Given the description of an element on the screen output the (x, y) to click on. 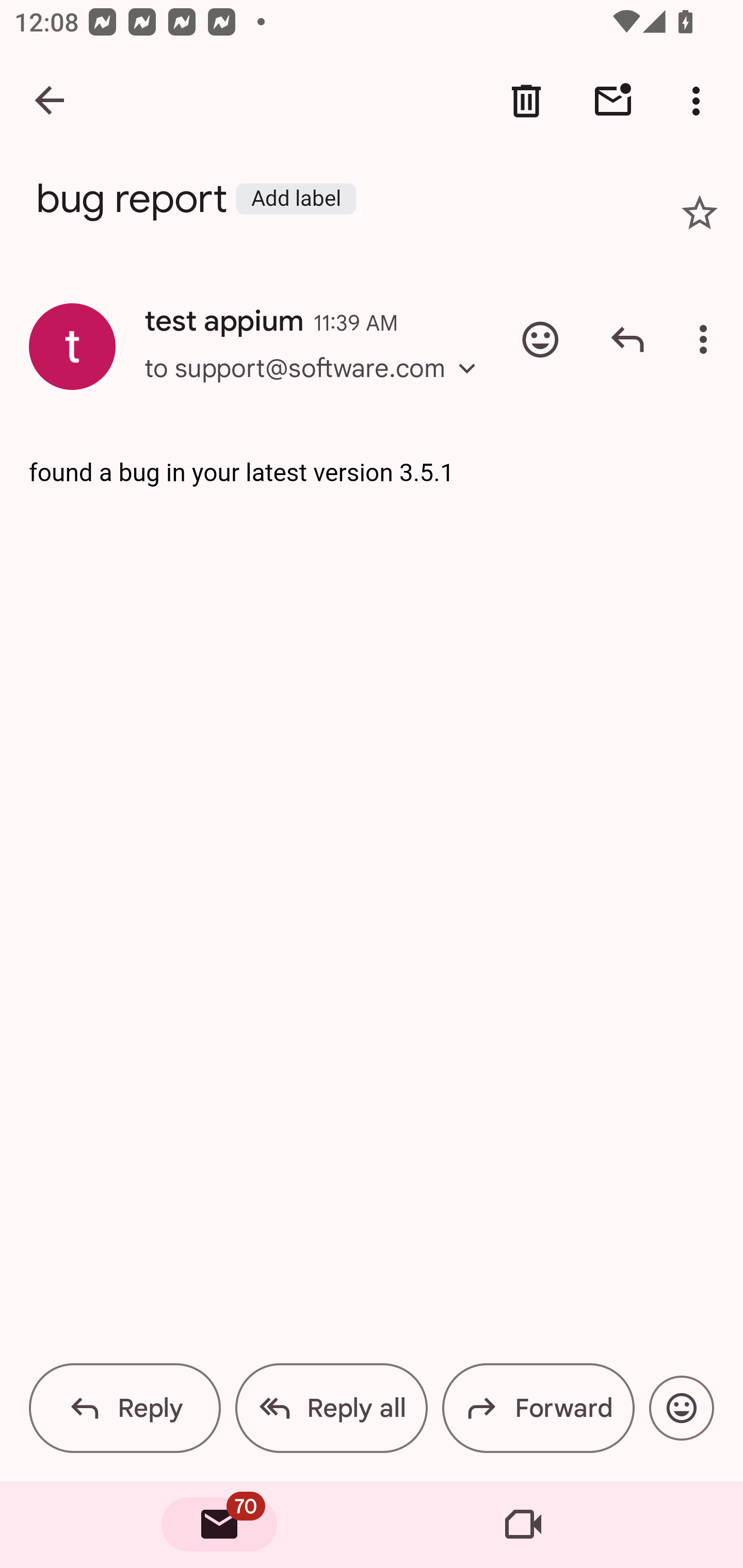
Navigate up (50, 101)
Delete (525, 101)
Mark unread (612, 101)
More options (699, 101)
Add star (699, 212)
Add emoji reaction (540, 339)
Reply (626, 339)
More options (706, 339)
Show contact information for test appium (71, 346)
to support@software.com (316, 386)
Reply (124, 1407)
Reply all (331, 1407)
Forward (538, 1407)
Add emoji reaction (681, 1407)
Meet (523, 1524)
